Given the description of an element on the screen output the (x, y) to click on. 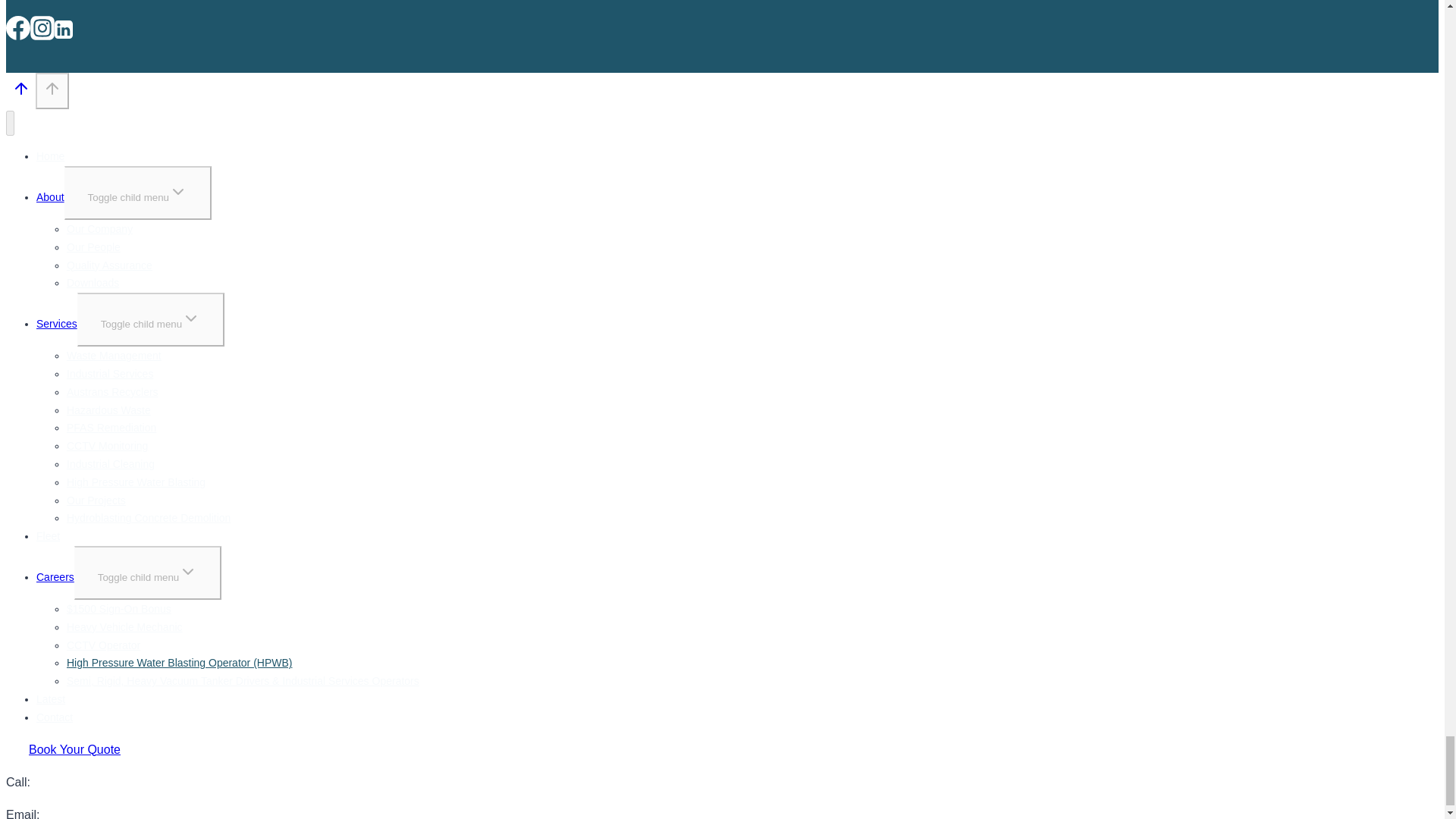
Expand (187, 571)
Expand (191, 318)
Expand (177, 191)
Scroll to top (52, 88)
Scroll to top (19, 93)
Scroll to top (20, 88)
Facebook (17, 27)
Instagram (42, 27)
Scroll to top (51, 90)
